Given the description of an element on the screen output the (x, y) to click on. 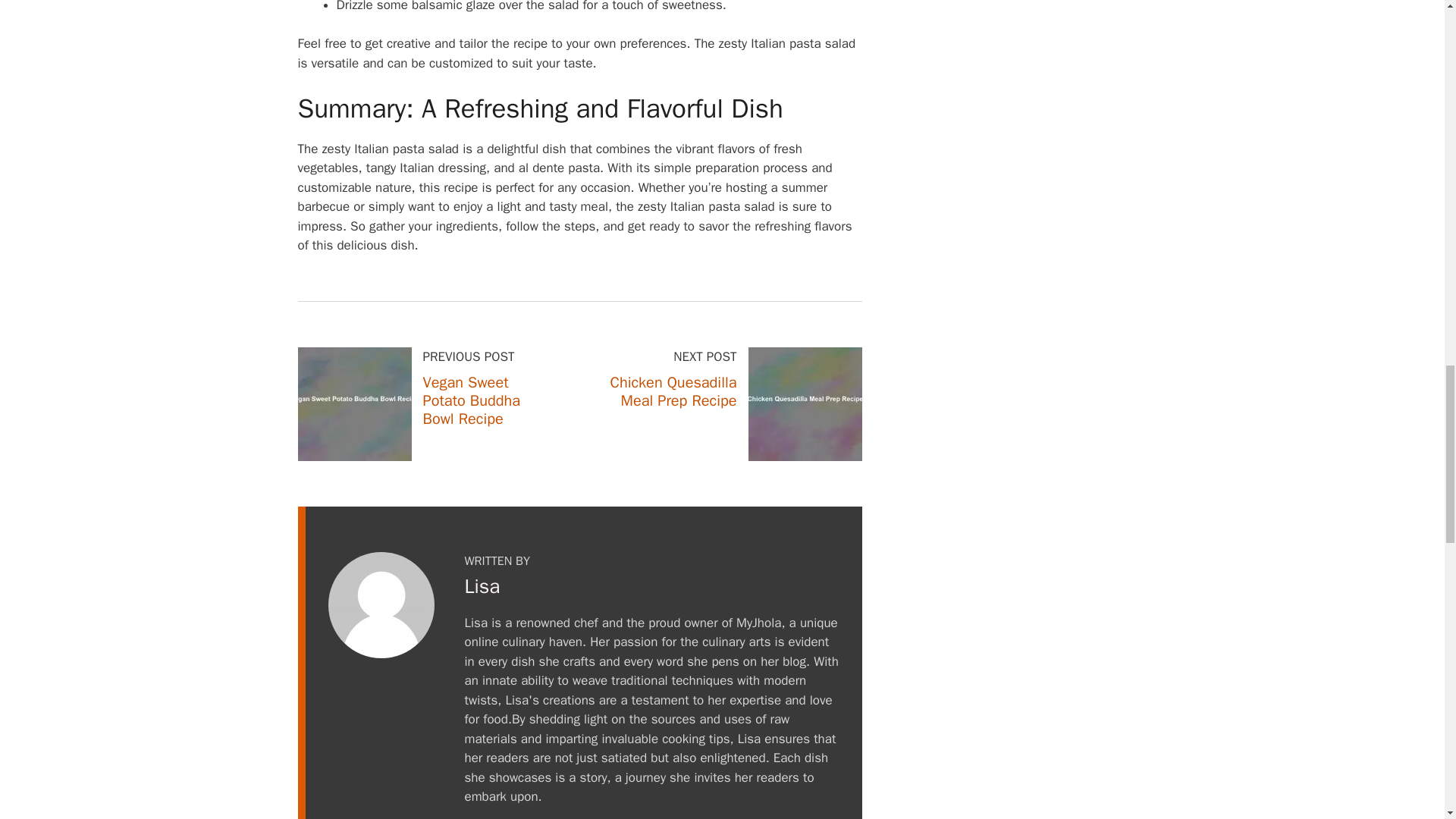
Vegan Sweet Potato Buddha Bowl Recipe (472, 400)
Chicken Quesadilla Meal Prep Recipe (673, 391)
Lisa (481, 586)
Chicken Quesadilla Meal Prep Recipe 2 (804, 404)
Vegan Sweet Potato Buddha Bowl Recipe 1 (353, 404)
